Given the description of an element on the screen output the (x, y) to click on. 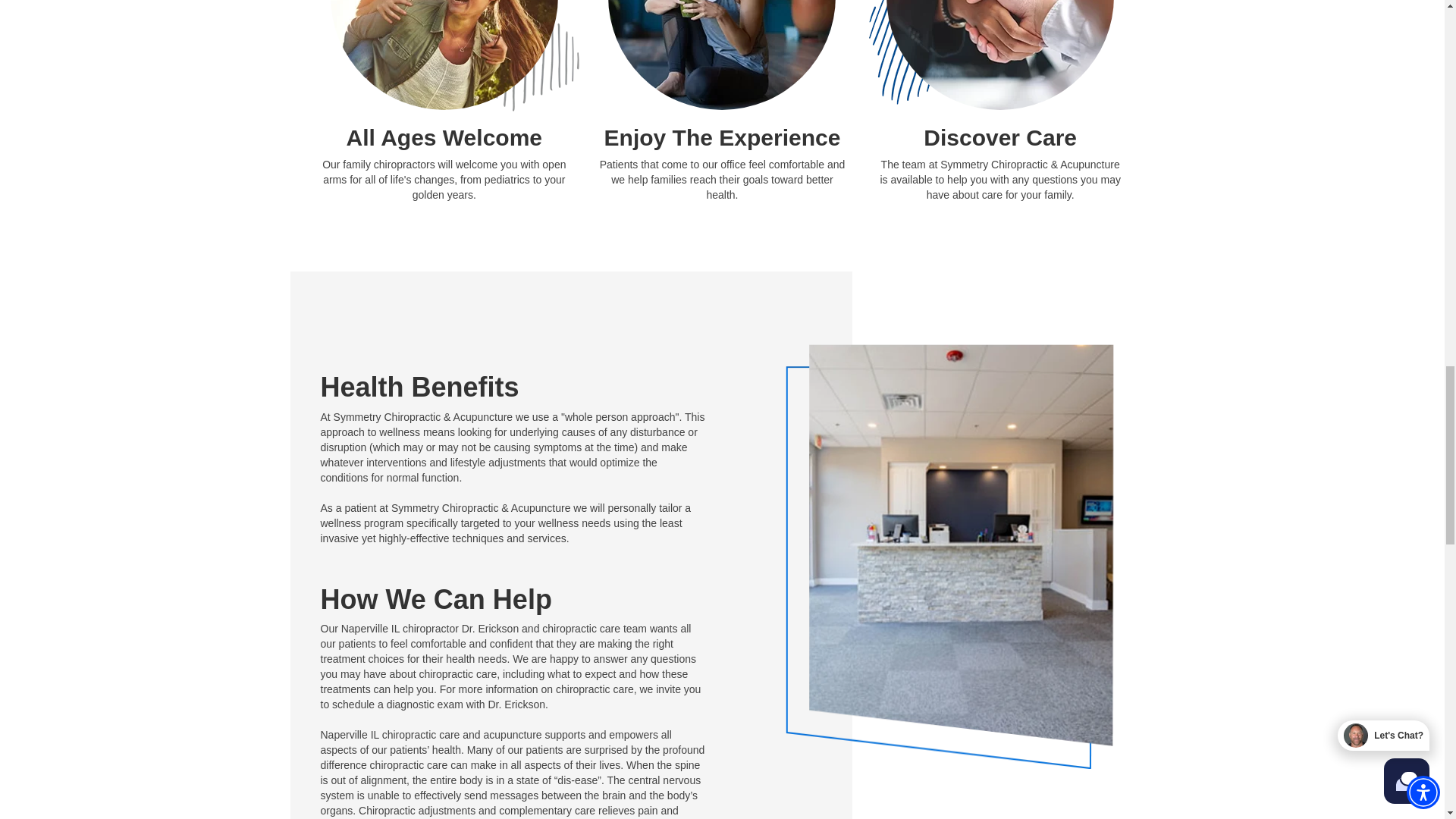
Chiropractic Naperville IL All Ages Welcome (443, 54)
Discover-Chiropractic-Care-Emma-Circle-1.webp (999, 54)
Enjoy-The-Experiance-Emma-Circle-1.webp (721, 54)
